Given the description of an element on the screen output the (x, y) to click on. 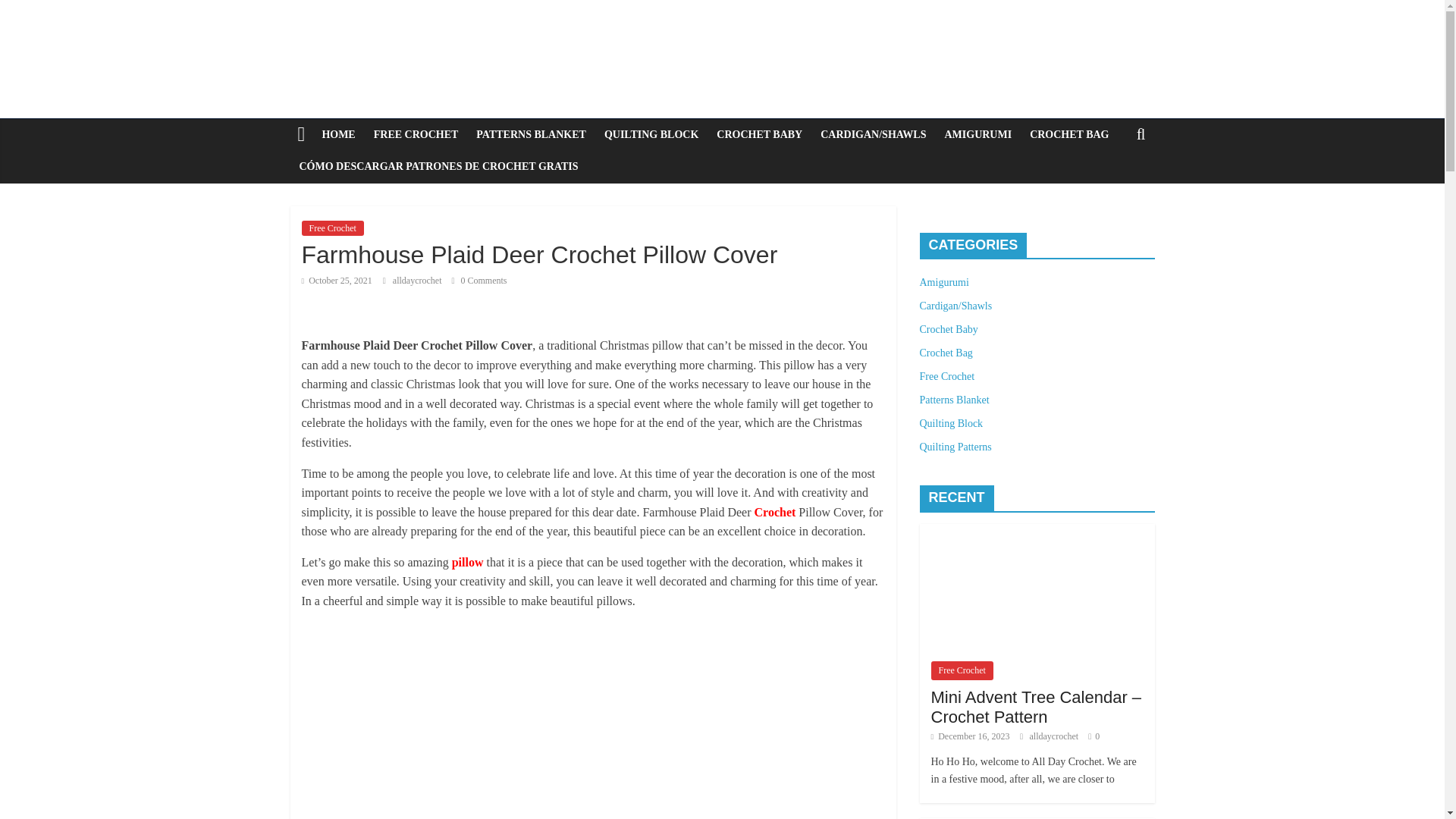
6:15 am (336, 280)
HOME (338, 134)
0 Comments (478, 280)
alldaycrochet (418, 280)
QUILTING BLOCK (651, 134)
Crochet (775, 512)
FREE CROCHET (416, 134)
alldaycrochet (418, 280)
CROCHET BABY (758, 134)
October 25, 2021 (336, 280)
